Given the description of an element on the screen output the (x, y) to click on. 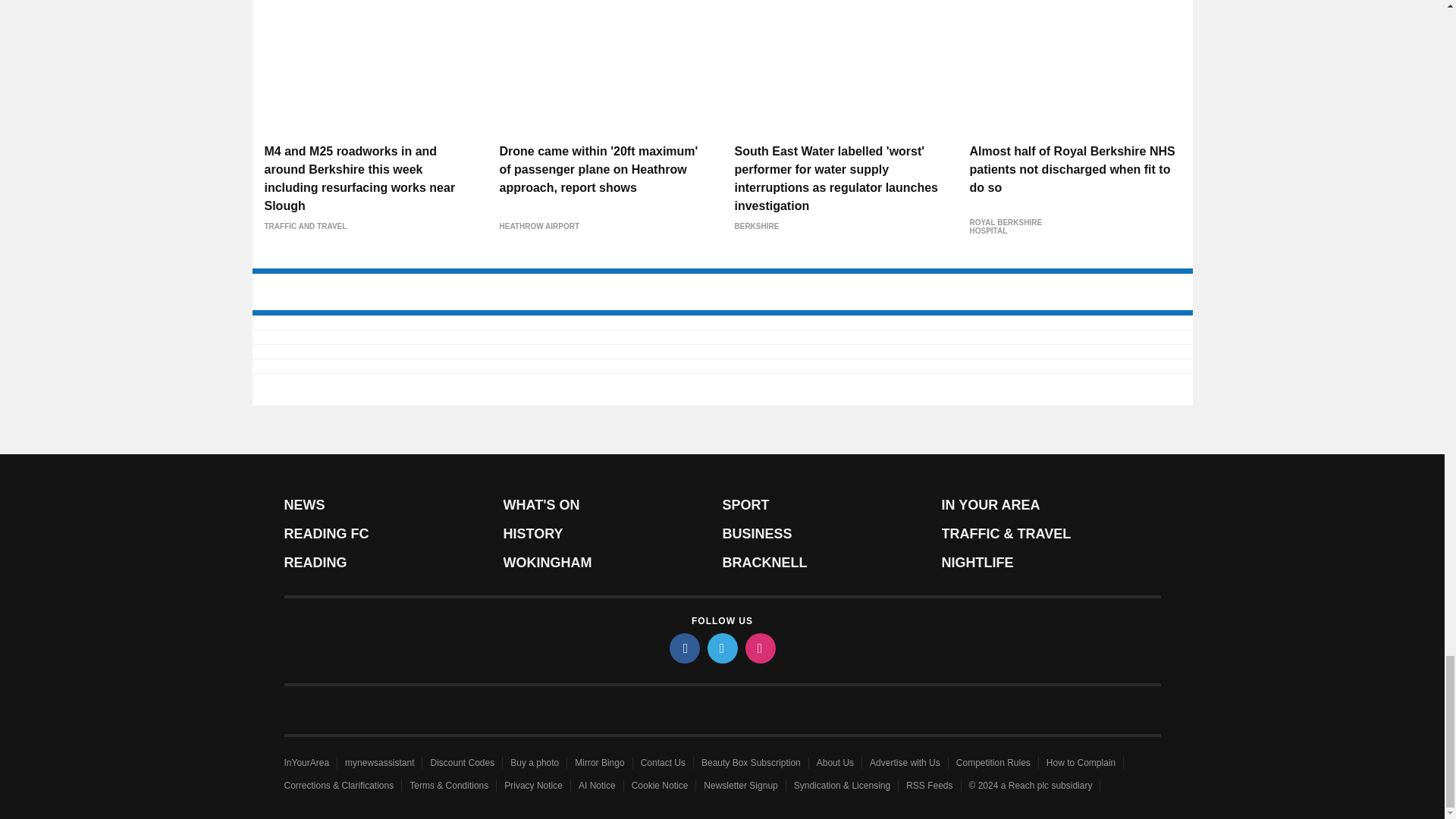
facebook (683, 648)
instagram (759, 648)
twitter (721, 648)
